Given the description of an element on the screen output the (x, y) to click on. 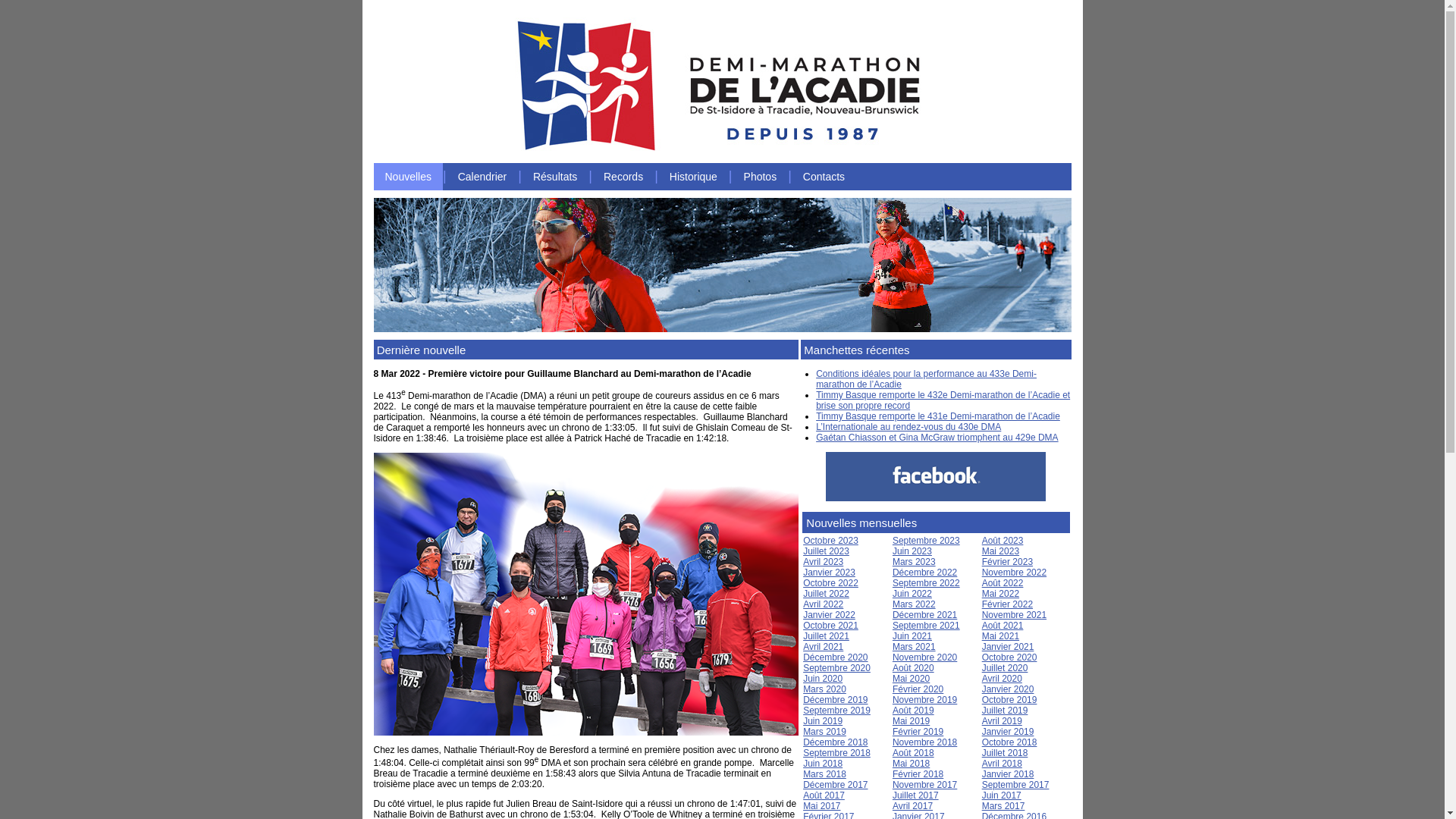
Mars 2019 Element type: text (824, 731)
Janvier 2019 Element type: text (1008, 731)
Mars 2022 Element type: text (913, 604)
Avril 2019 Element type: text (1002, 720)
Juillet 2020 Element type: text (1005, 667)
Novembre 2020 Element type: text (924, 657)
Mars 2020 Element type: text (824, 689)
Juillet 2017 Element type: text (915, 795)
Juillet 2019 Element type: text (1005, 710)
Mai 2022 Element type: text (1000, 593)
Octobre 2022 Element type: text (830, 582)
Octobre 2019 Element type: text (1009, 699)
Novembre 2021 Element type: text (1014, 614)
Juillet 2018 Element type: text (1005, 752)
Juillet 2022 Element type: text (826, 593)
Juin 2019 Element type: text (822, 720)
Juillet 2023 Element type: text (826, 551)
Mai 2023 Element type: text (1000, 551)
Septembre 2021 Element type: text (926, 625)
Contacts Element type: text (823, 176)
Janvier 2021 Element type: text (1008, 646)
Septembre 2023 Element type: text (926, 540)
Avril 2023 Element type: text (823, 561)
Octobre 2021 Element type: text (830, 625)
Novembre 2022 Element type: text (1014, 572)
Janvier 2023 Element type: text (829, 572)
Mai 2019 Element type: text (910, 720)
Mars 2018 Element type: text (824, 773)
Juin 2018 Element type: text (822, 763)
Juillet 2021 Element type: text (826, 635)
Avril 2017 Element type: text (912, 805)
Novembre 2017 Element type: text (924, 784)
Juin 2021 Element type: text (911, 635)
Avril 2021 Element type: text (823, 646)
Novembre 2018 Element type: text (924, 742)
Mai 2020 Element type: text (910, 678)
Octobre 2020 Element type: text (1009, 657)
Photos Element type: text (760, 176)
Mars 2021 Element type: text (913, 646)
Septembre 2019 Element type: text (836, 710)
Historique Element type: text (693, 176)
Janvier 2020 Element type: text (1008, 689)
Septembre 2018 Element type: text (836, 752)
Juin 2022 Element type: text (911, 593)
Mars 2017 Element type: text (1003, 805)
Juin 2023 Element type: text (911, 551)
Septembre 2020 Element type: text (836, 667)
Records Element type: text (623, 176)
Juin 2017 Element type: text (1001, 795)
Janvier 2018 Element type: text (1008, 773)
Novembre 2019 Element type: text (924, 699)
Nouvelles Element type: text (407, 176)
Calendrier Element type: text (482, 176)
Avril 2020 Element type: text (1002, 678)
Septembre 2022 Element type: text (926, 582)
Octobre 2018 Element type: text (1009, 742)
Mai 2017 Element type: text (821, 805)
Mars 2023 Element type: text (913, 561)
Mai 2021 Element type: text (1000, 635)
Janvier 2022 Element type: text (829, 614)
Avril 2018 Element type: text (1002, 763)
Juin 2020 Element type: text (822, 678)
Avril 2022 Element type: text (823, 604)
Mai 2018 Element type: text (910, 763)
Septembre 2017 Element type: text (1015, 784)
Octobre 2023 Element type: text (830, 540)
